Given the description of an element on the screen output the (x, y) to click on. 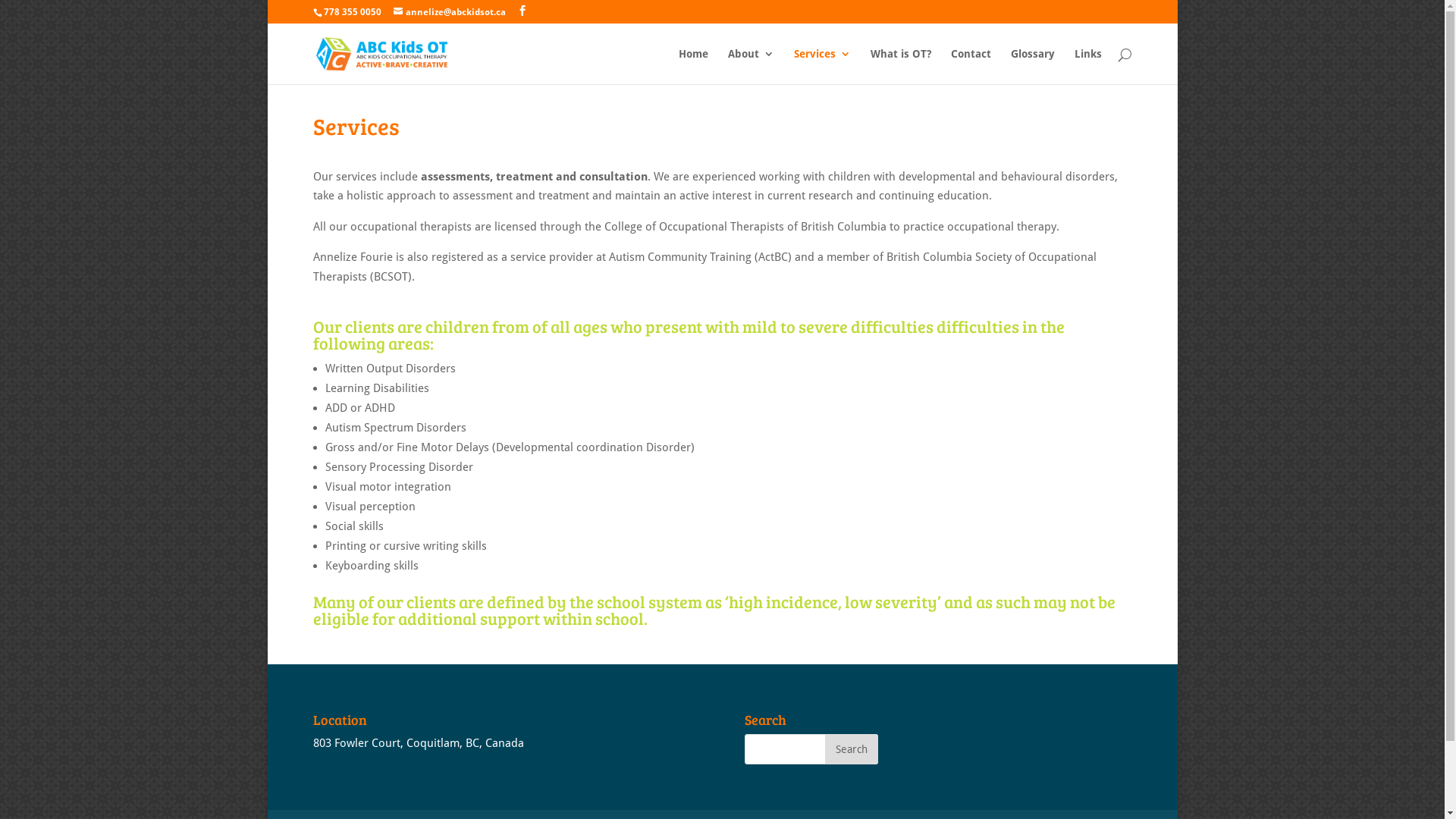
About Element type: text (751, 66)
Services Element type: text (821, 66)
annelize@abckidsot.ca Element type: text (448, 11)
Contact Element type: text (970, 66)
Home Element type: text (692, 66)
What is OT? Element type: text (900, 66)
Links Element type: text (1087, 66)
Search Element type: text (851, 749)
Glossary Element type: text (1032, 66)
